Given the description of an element on the screen output the (x, y) to click on. 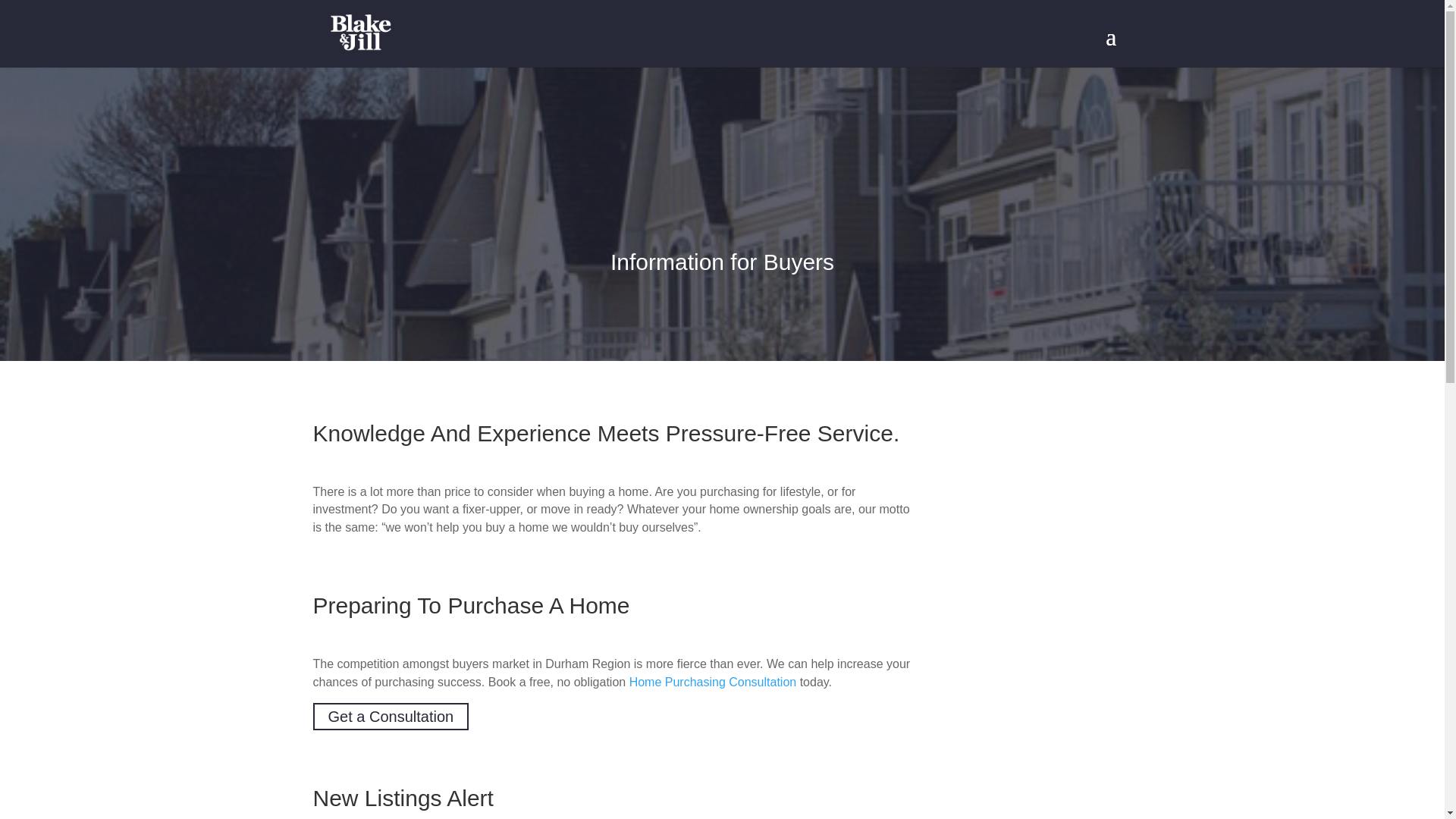
Get a Consultation (390, 716)
Home Purchasing Consultation (712, 681)
